Given the description of an element on the screen output the (x, y) to click on. 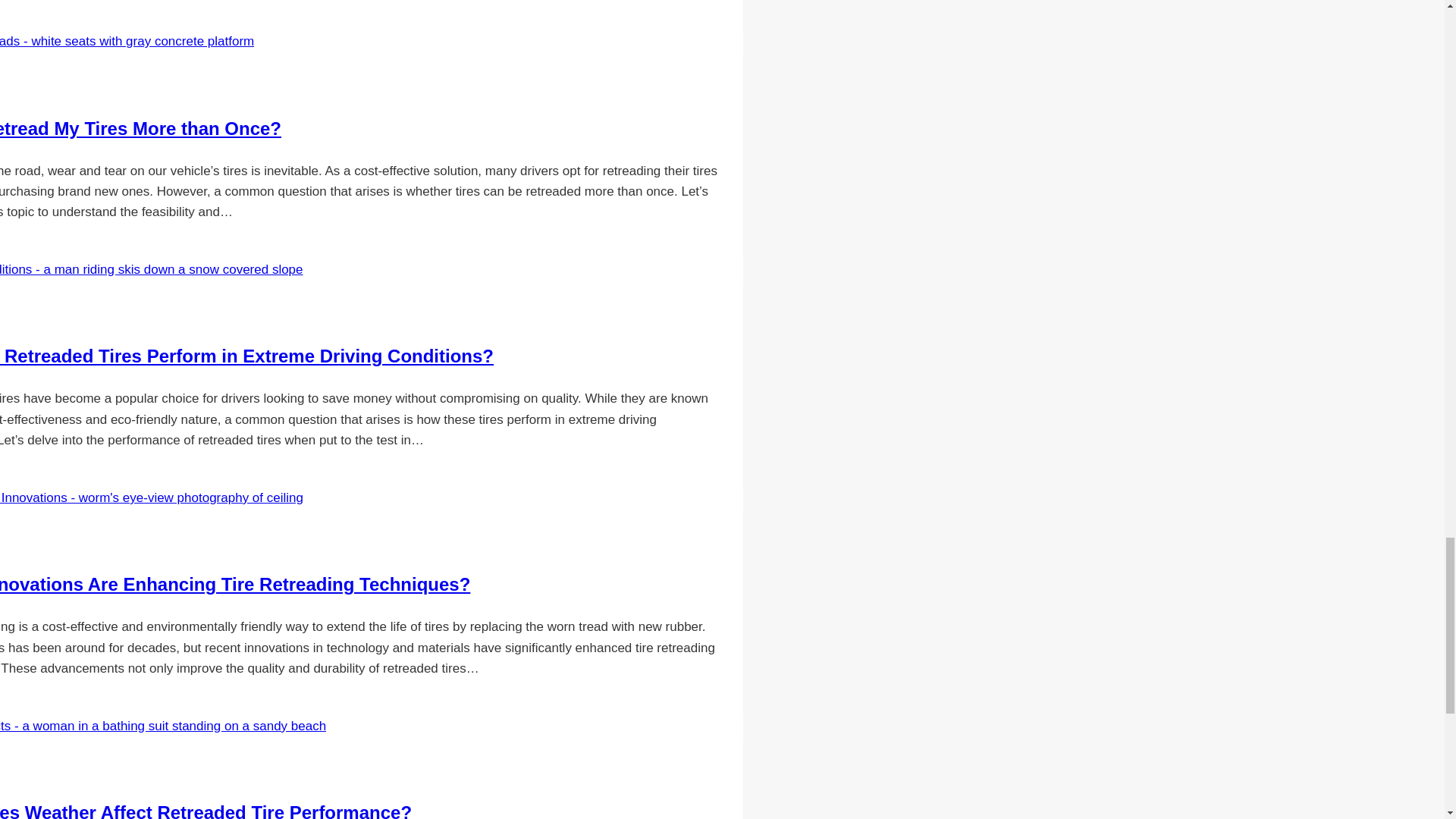
How Does Weather Affect Retreaded Tire Performance? (206, 810)
Can I Retread My Tires More than Once? (140, 127)
What Innovations Are Enhancing Tire Retreading Techniques? (235, 584)
